Given the description of an element on the screen output the (x, y) to click on. 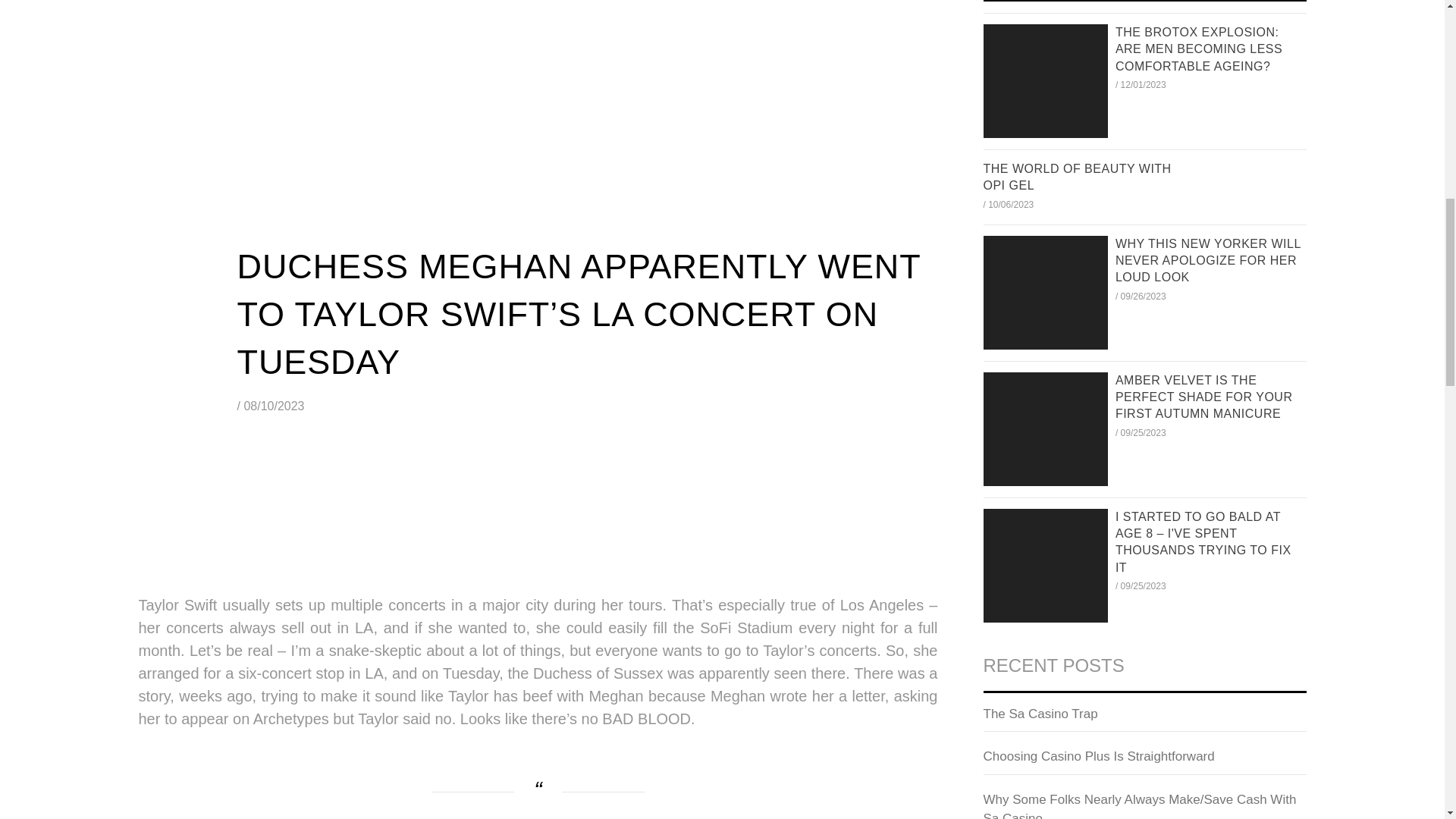
WHY THIS NEW YORKER WILL NEVER APOLOGIZE FOR HER LOUD LOOK (1207, 260)
THE WORLD OF BEAUTY WITH OPI GEL (1076, 176)
